Given the description of an element on the screen output the (x, y) to click on. 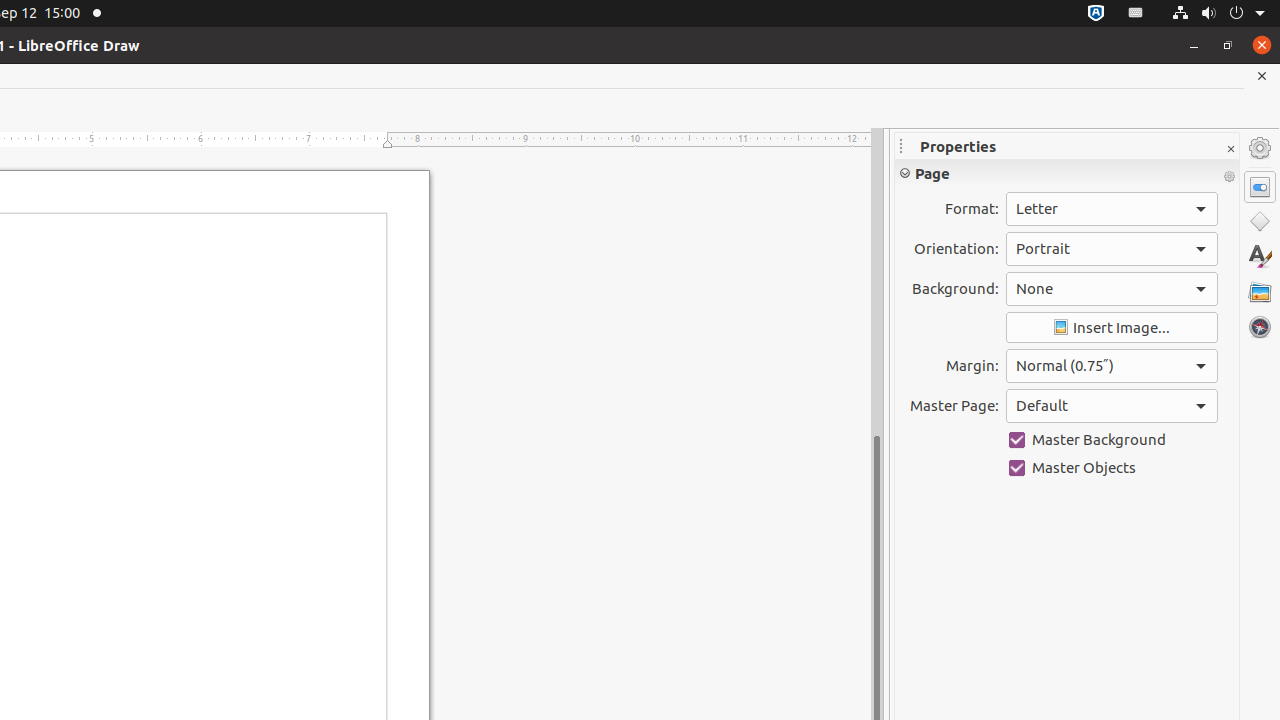
:1.21/StatusNotifierItem Element type: menu (1136, 13)
Gallery Element type: radio-button (1260, 292)
Orientation: Element type: combo-box (1112, 249)
Format: Element type: combo-box (1112, 209)
:1.72/StatusNotifierItem Element type: menu (1096, 13)
